Given the description of an element on the screen output the (x, y) to click on. 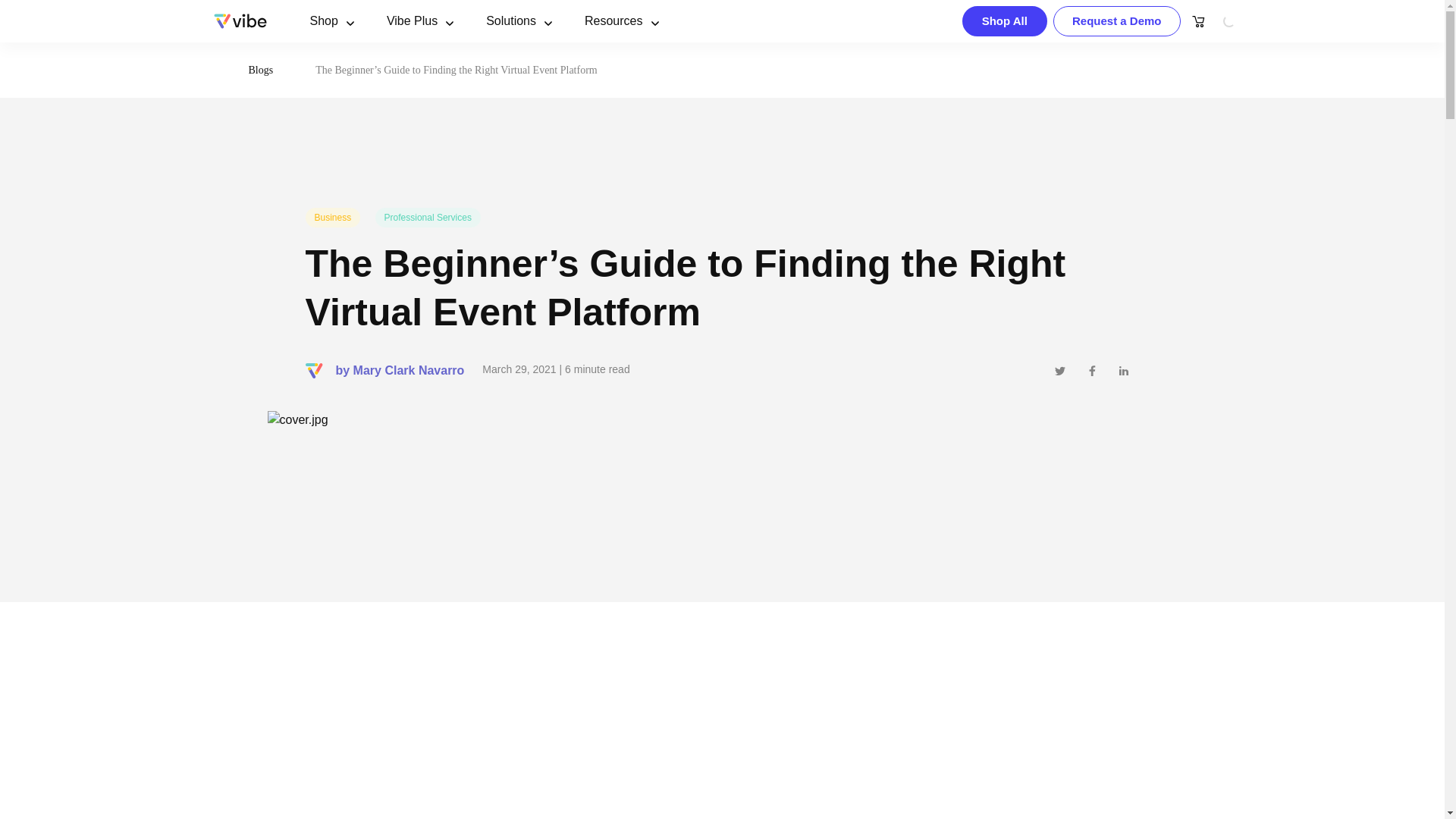
Vibe logo (239, 20)
